Given the description of an element on the screen output the (x, y) to click on. 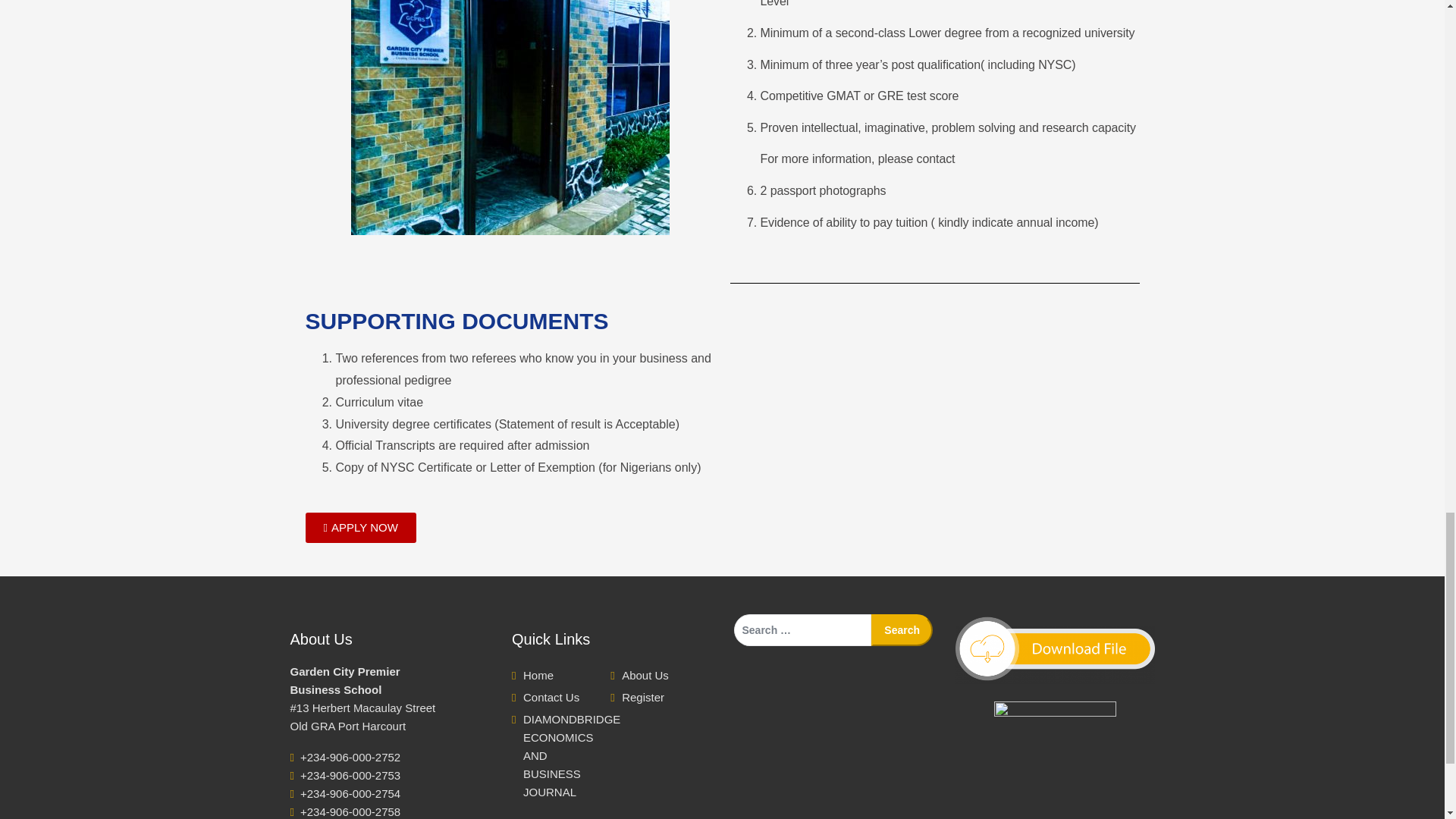
Search (901, 630)
Search (901, 630)
Home (537, 675)
APPLY NOW (359, 527)
